Given the description of an element on the screen output the (x, y) to click on. 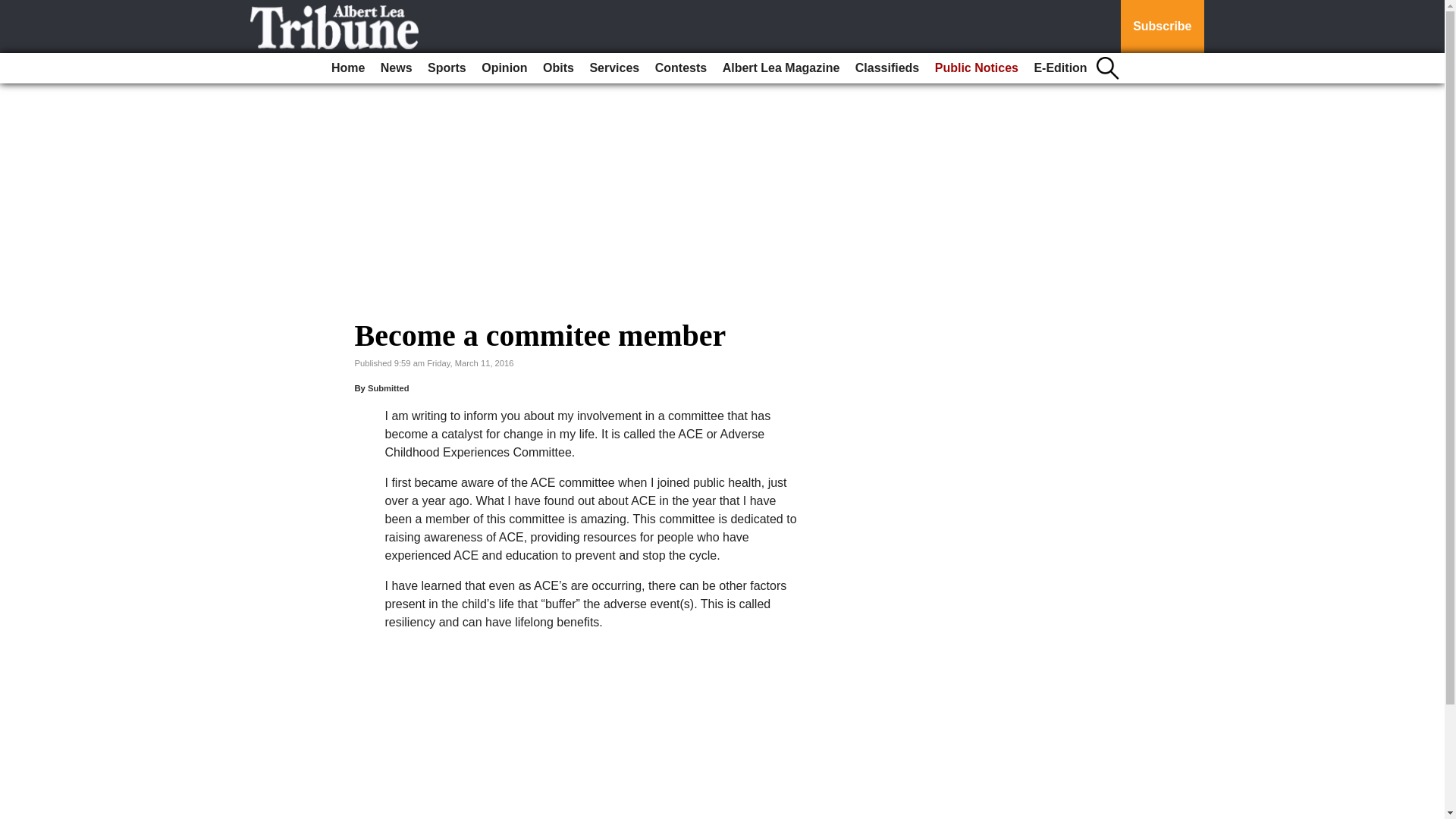
Sports (446, 68)
Opinion (504, 68)
Obits (558, 68)
Services (614, 68)
Home (347, 68)
News (396, 68)
Subscribe (1162, 26)
